Given the description of an element on the screen output the (x, y) to click on. 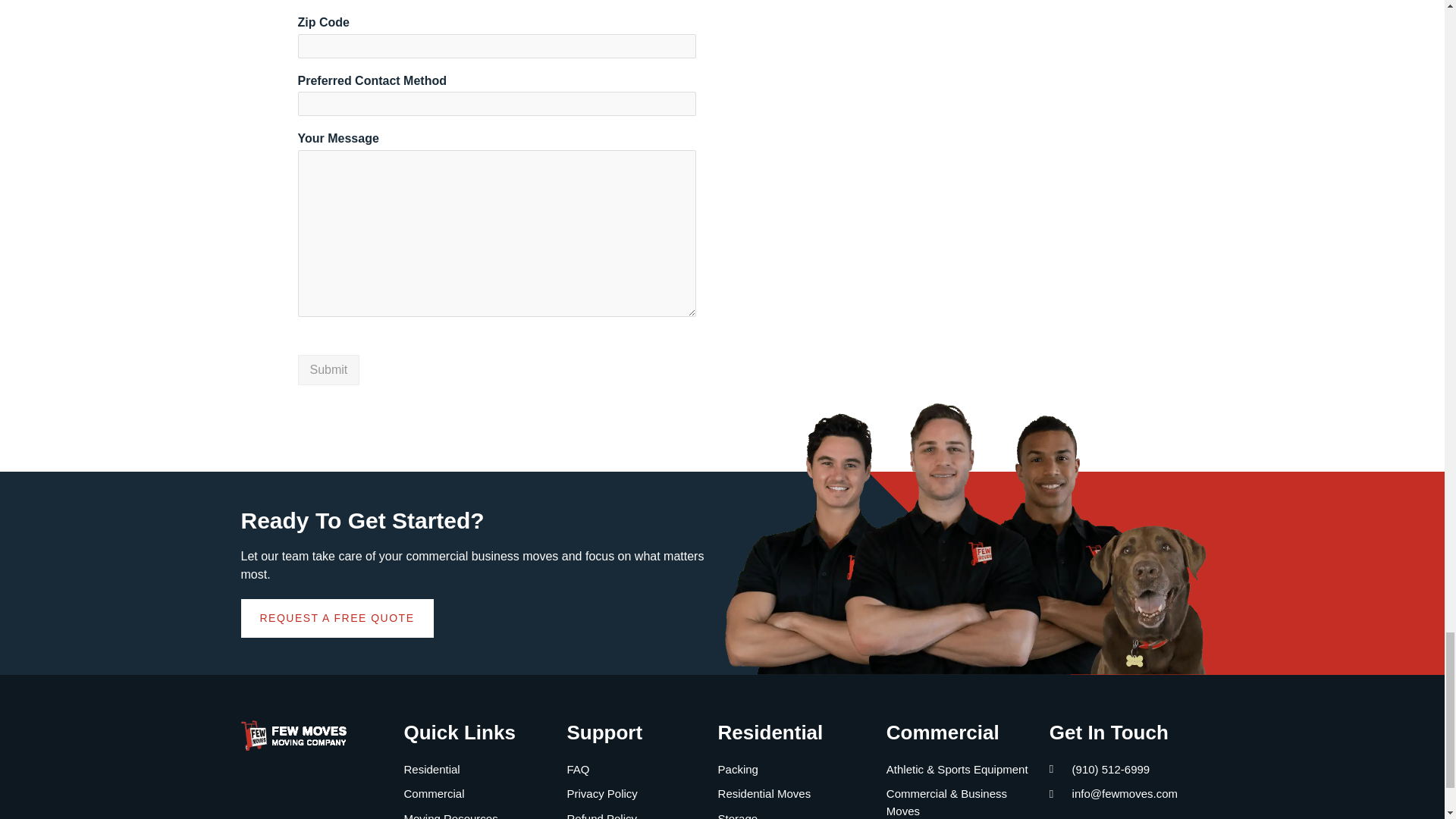
Few Moves Moving Company (948, 110)
